Given the description of an element on the screen output the (x, y) to click on. 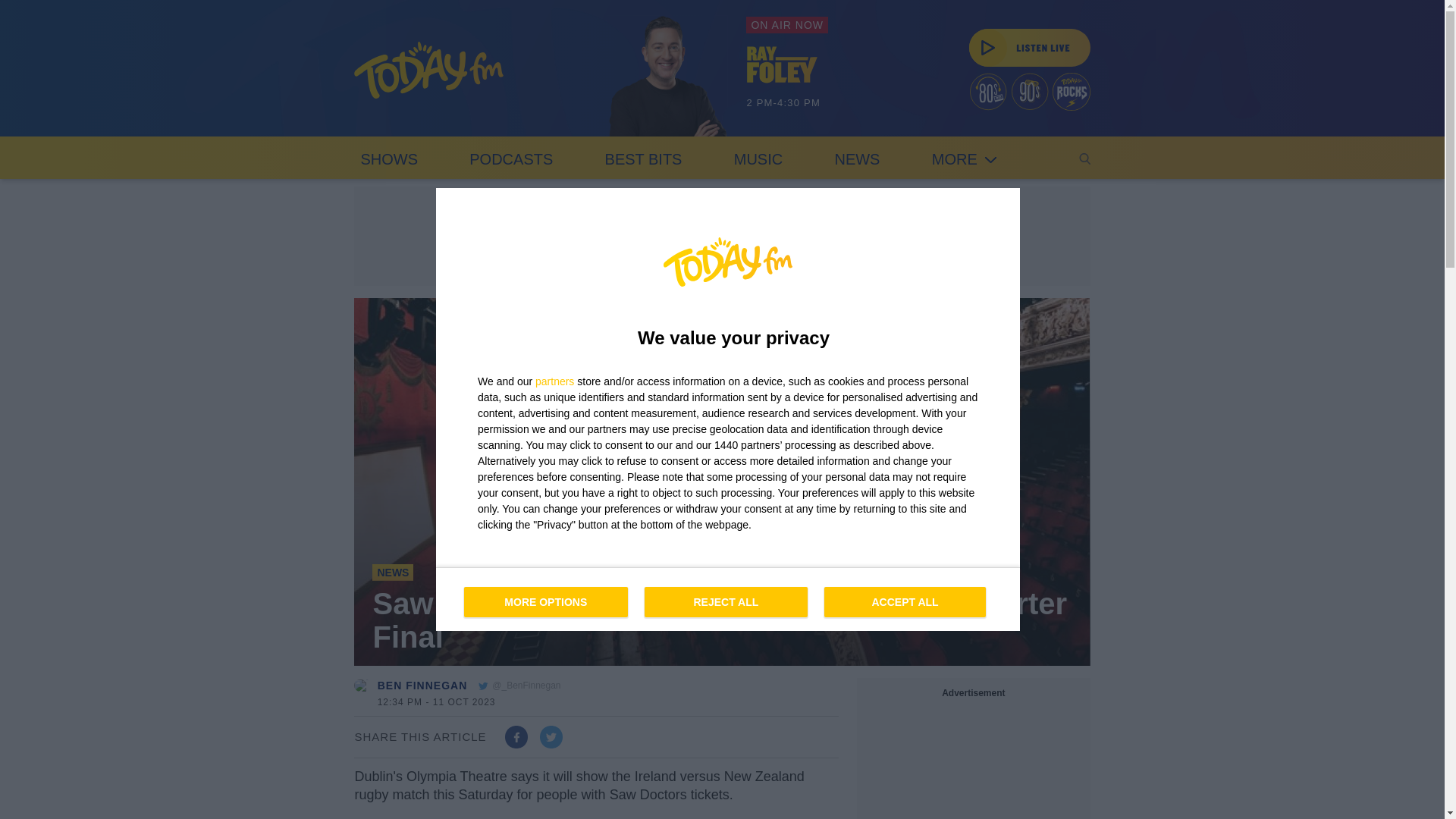
SHOWS (388, 157)
REJECT ALL (727, 598)
partners (726, 602)
News (554, 380)
NEWS (856, 157)
Podcasts (392, 572)
BEST BITS (511, 157)
NEWS (643, 157)
2 PM-4:30 PM (856, 157)
MORE (786, 82)
MORE OPTIONS (964, 158)
Music (545, 602)
Ray Foley (758, 157)
Best Bits (781, 64)
